Given the description of an element on the screen output the (x, y) to click on. 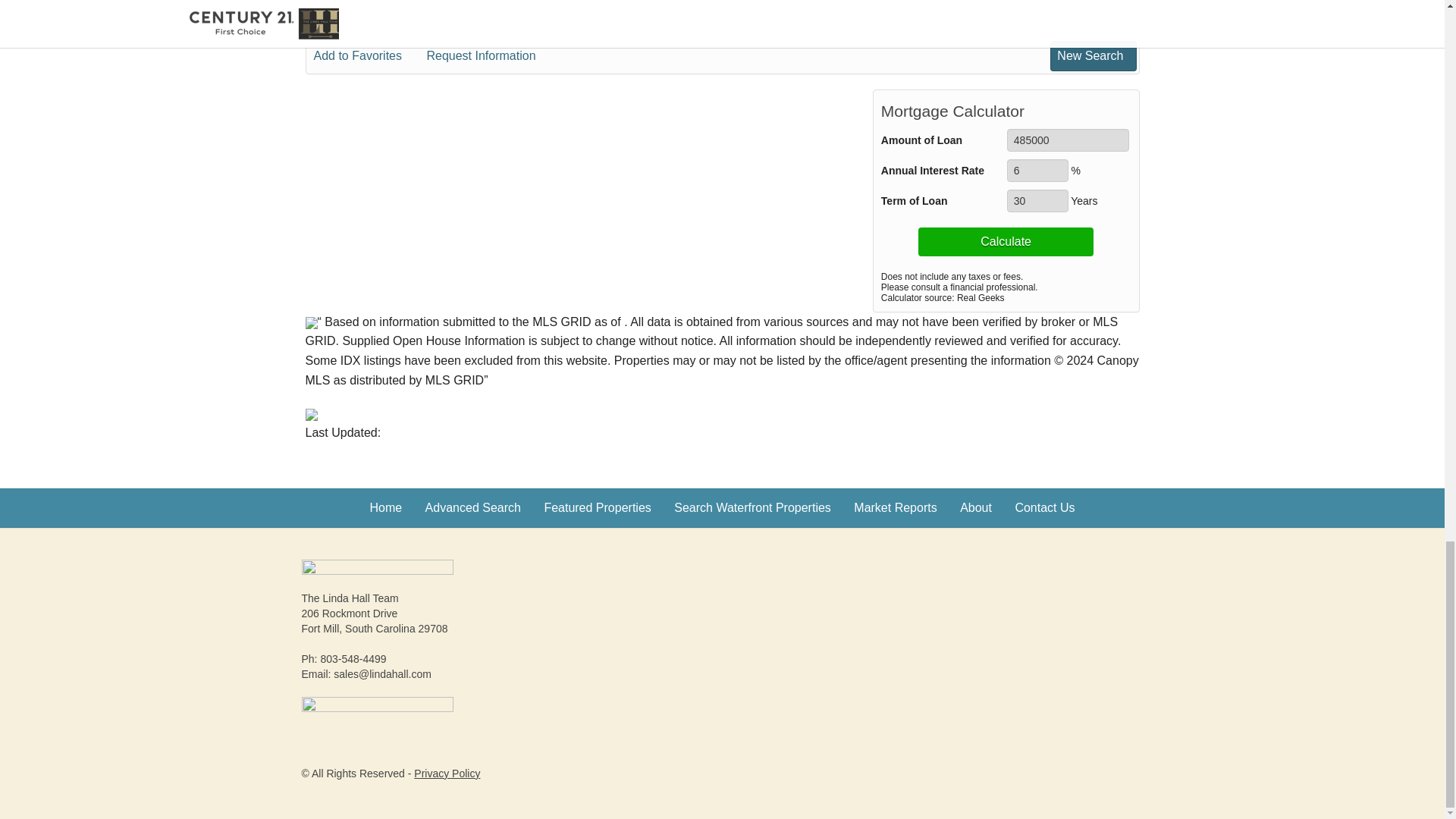
485000 (1068, 139)
30 (1037, 200)
6 (1037, 169)
